Given the description of an element on the screen output the (x, y) to click on. 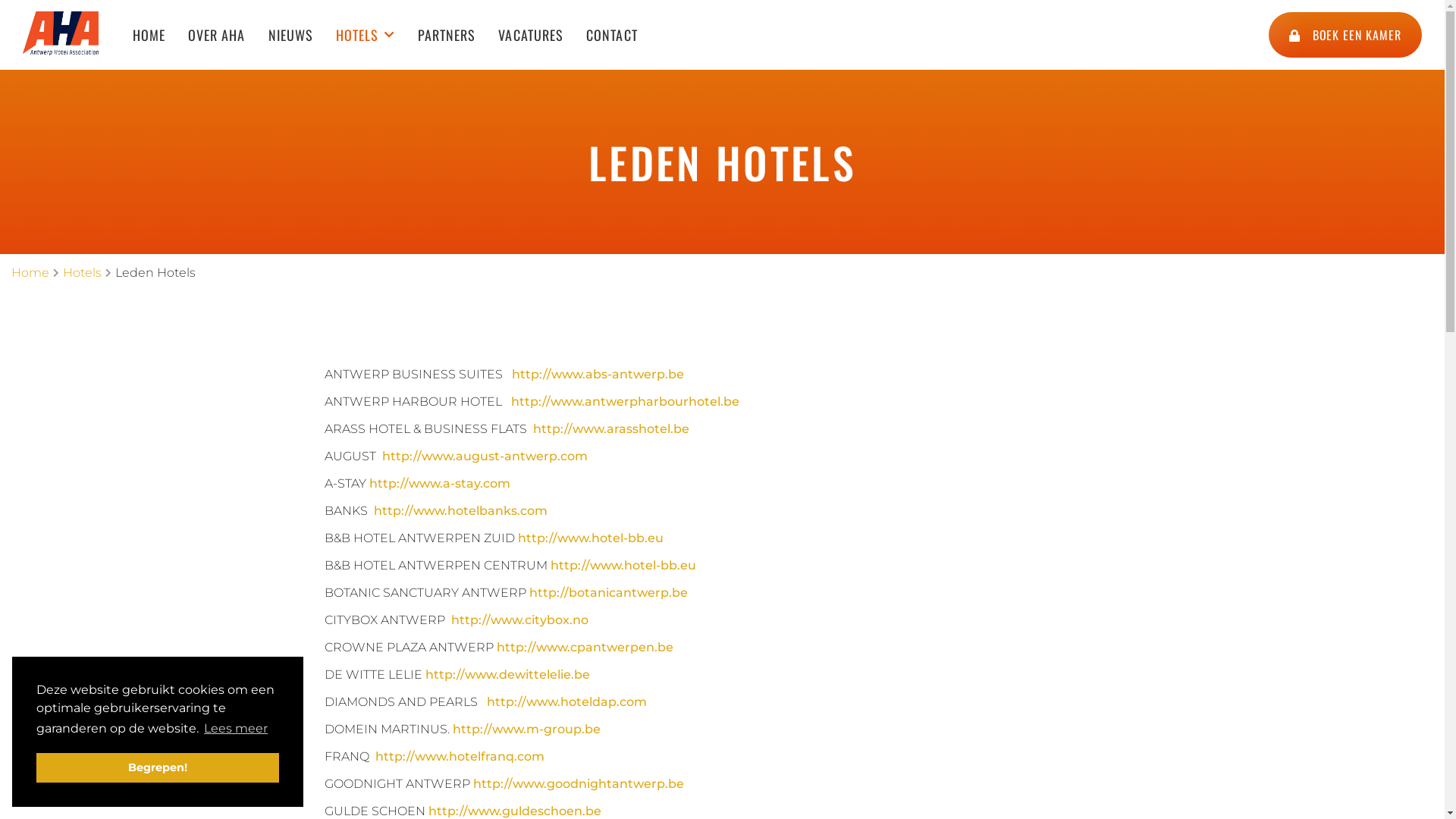
http://www.august-antwerp.com Element type: text (484, 455)
http://www.hotel-bb.eu Element type: text (623, 565)
Lees meer Element type: text (235, 728)
http://www.hoteldap.com Element type: text (566, 701)
http://www.goodnightantwerp.be Element type: text (578, 783)
http://www.cpantwerpen.be Element type: text (583, 647)
Hotels Element type: text (81, 272)
http://www.antwerpharbourhotel.be Element type: text (625, 401)
http://www.dewittelelie.be Element type: text (506, 674)
http://www.m-group.be Element type: text (525, 728)
http://www.abs-antwerp.be Element type: text (597, 374)
BOEK EEN KAMER Element type: text (1344, 34)
http://www.hotelfranq.com Element type: text (458, 756)
OVER AHA Element type: text (216, 34)
Home Element type: text (30, 272)
HOTELS Element type: text (365, 34)
HOME Element type: text (148, 34)
http://www.arasshotel.be Element type: text (610, 428)
PARTNERS Element type: text (446, 34)
Begrepen! Element type: text (157, 767)
VACATURES Element type: text (530, 34)
http://www.hotel-bb.eu Element type: text (589, 537)
CONTACT Element type: text (611, 34)
http://www.a-stay.com Element type: text (438, 483)
http://botanicantwerp.be Element type: text (608, 592)
http://www.guldeschoen.be Element type: text (513, 810)
http://www.citybox.no Element type: text (518, 619)
http://www.hotelbanks.com Element type: text (459, 510)
NIEUWS Element type: text (290, 34)
